Given the description of an element on the screen output the (x, y) to click on. 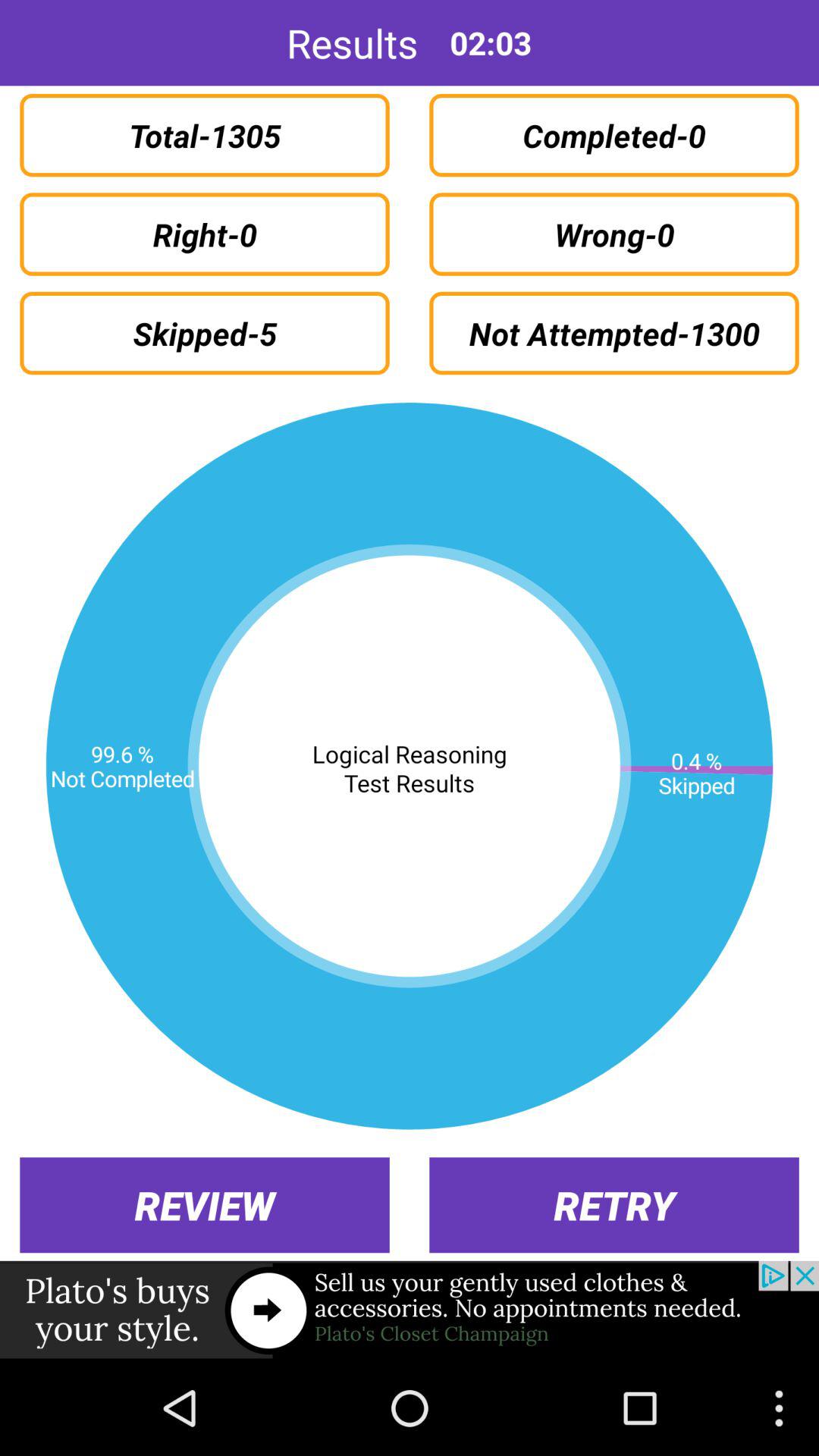
click to view advertisement (409, 1310)
